Given the description of an element on the screen output the (x, y) to click on. 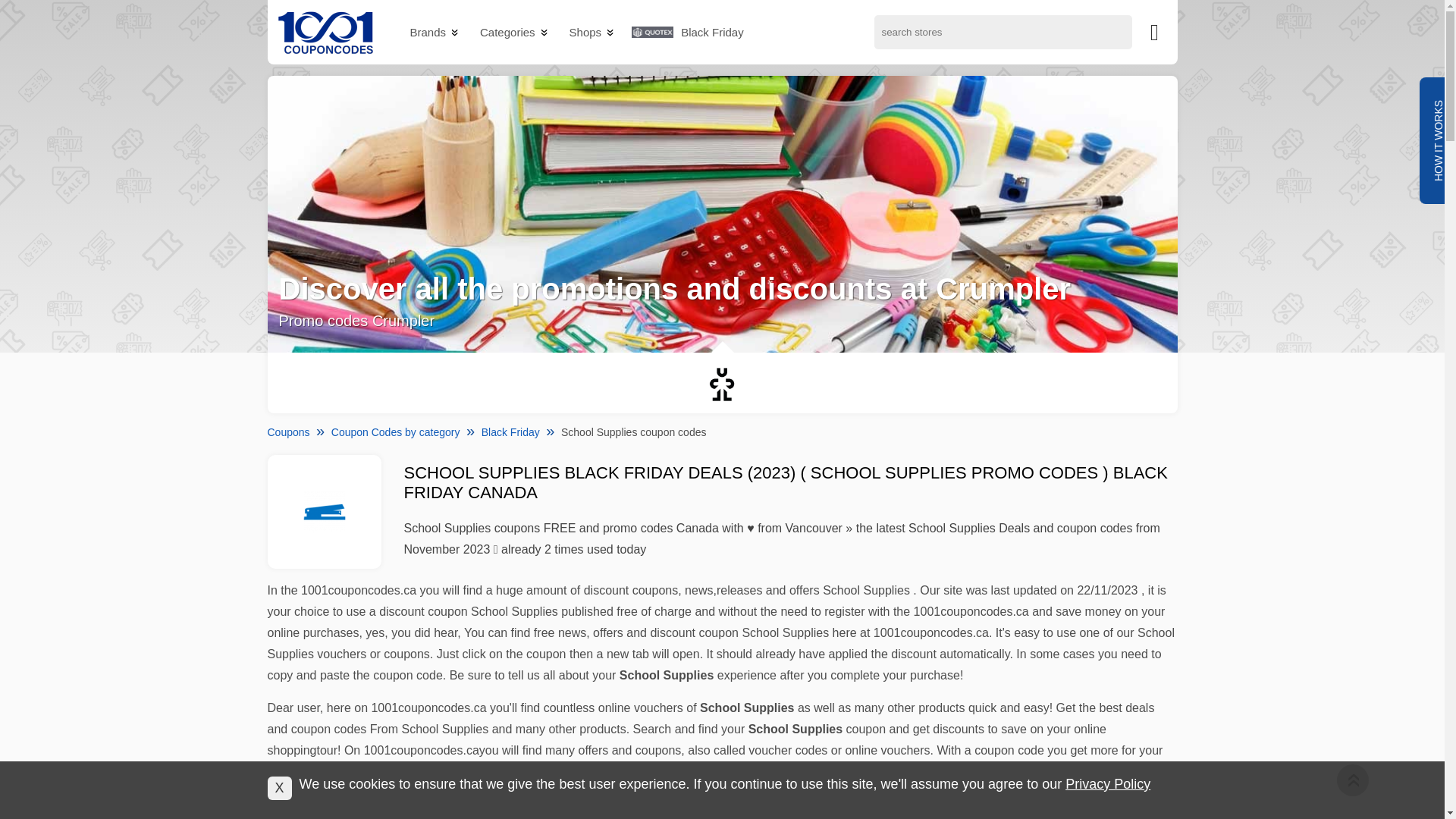
Coupons & Promo Codes Canada Element type: hover (324, 31)
Black Friday Element type: text (510, 432)
X Element type: text (278, 788)
Coupons Element type: text (287, 432)
Coupon Codes by category Element type: text (395, 432)
Privacy Policy Element type: text (1107, 783)
Black Friday Element type: text (711, 32)
